Given the description of an element on the screen output the (x, y) to click on. 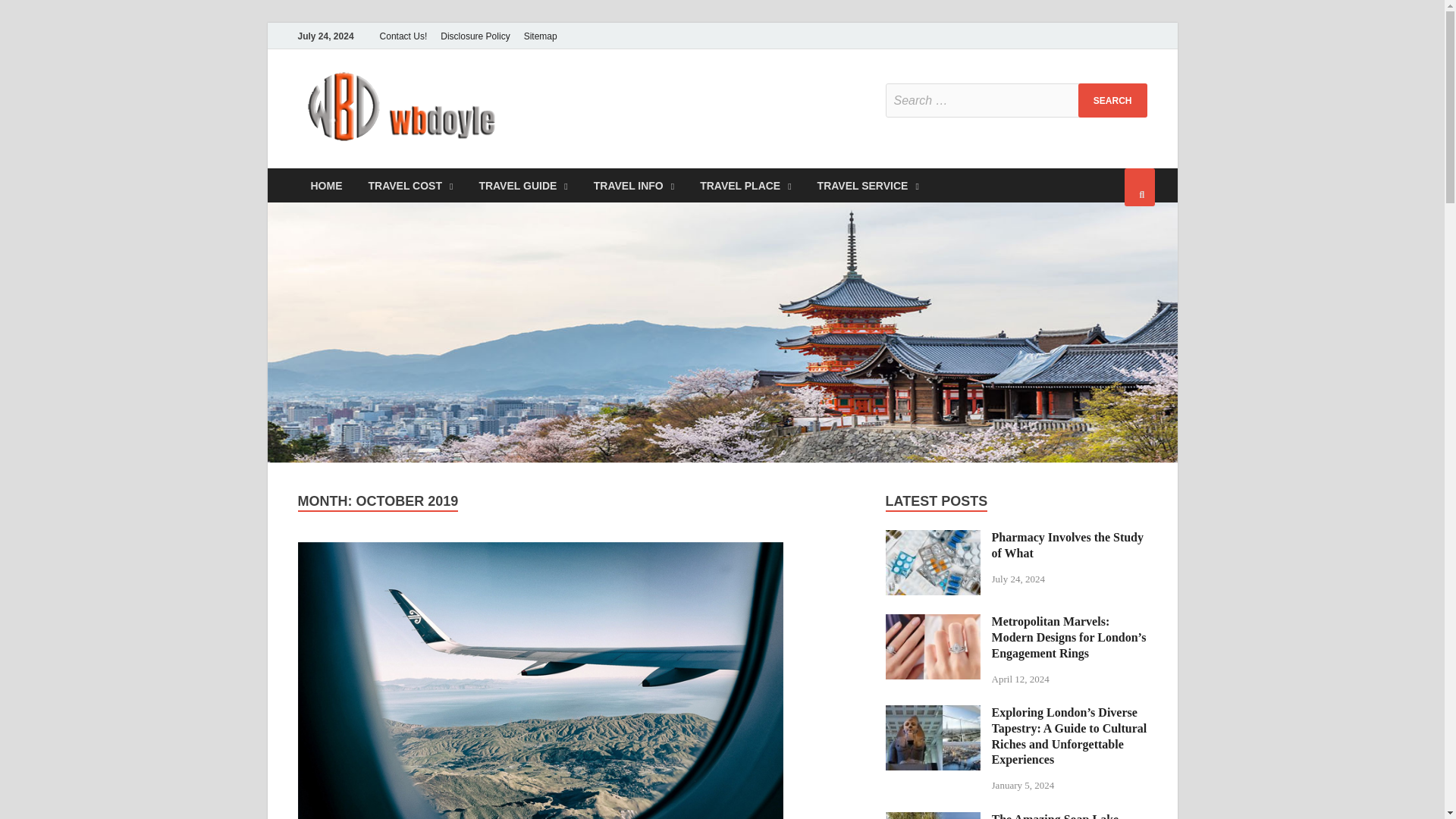
Search (1112, 100)
HOME (326, 185)
TRAVEL INFO (633, 185)
TRAVEL PLACE (745, 185)
Sitemap (540, 35)
Contact Us! (402, 35)
Disclosure Policy (474, 35)
TRAVEL COST (410, 185)
Pharmacy Involves the Study of What (932, 538)
